Given the description of an element on the screen output the (x, y) to click on. 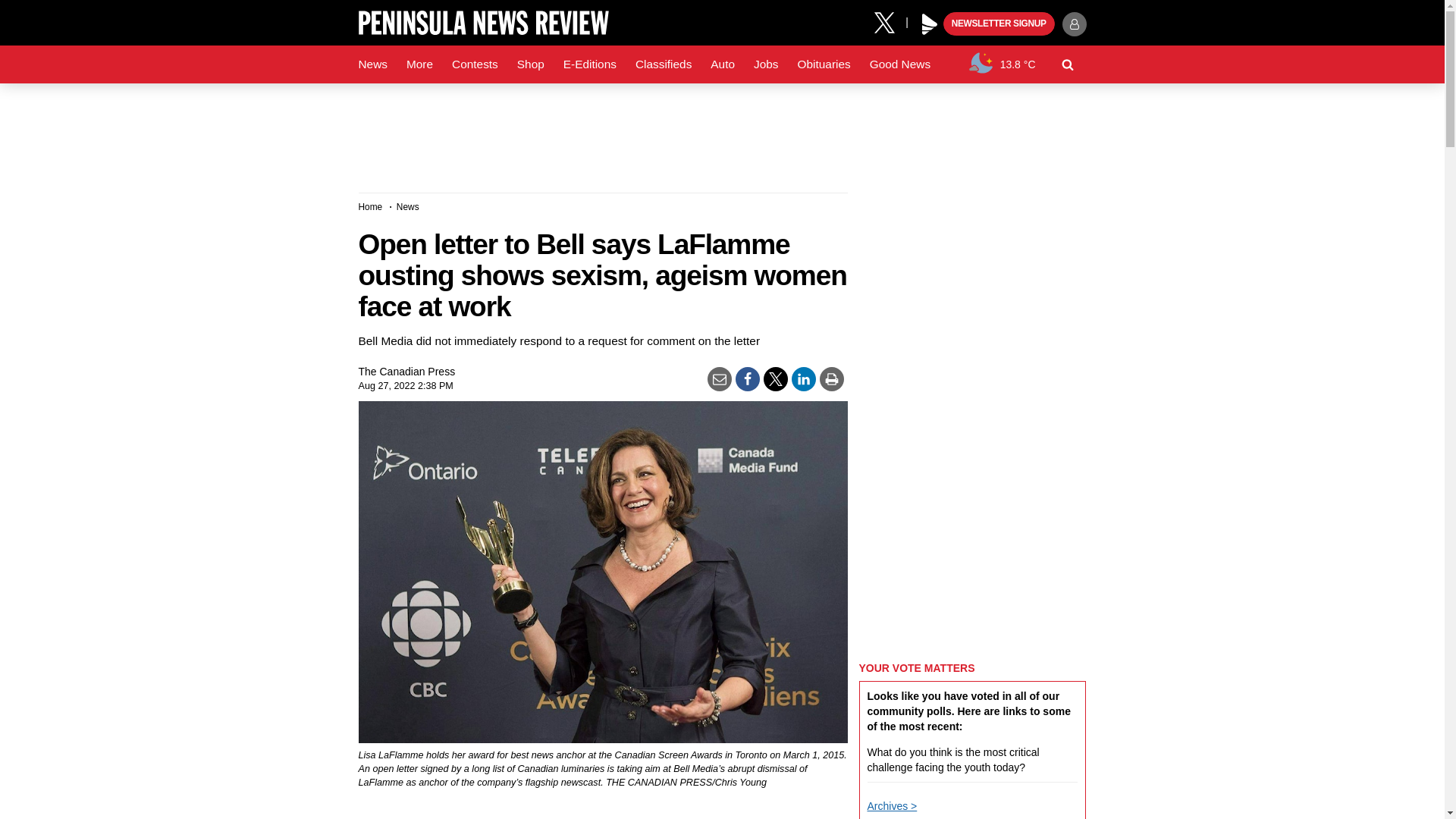
X (889, 21)
NEWSLETTER SIGNUP (998, 24)
News (372, 64)
Play (929, 24)
3rd party ad content (721, 131)
